Given the description of an element on the screen output the (x, y) to click on. 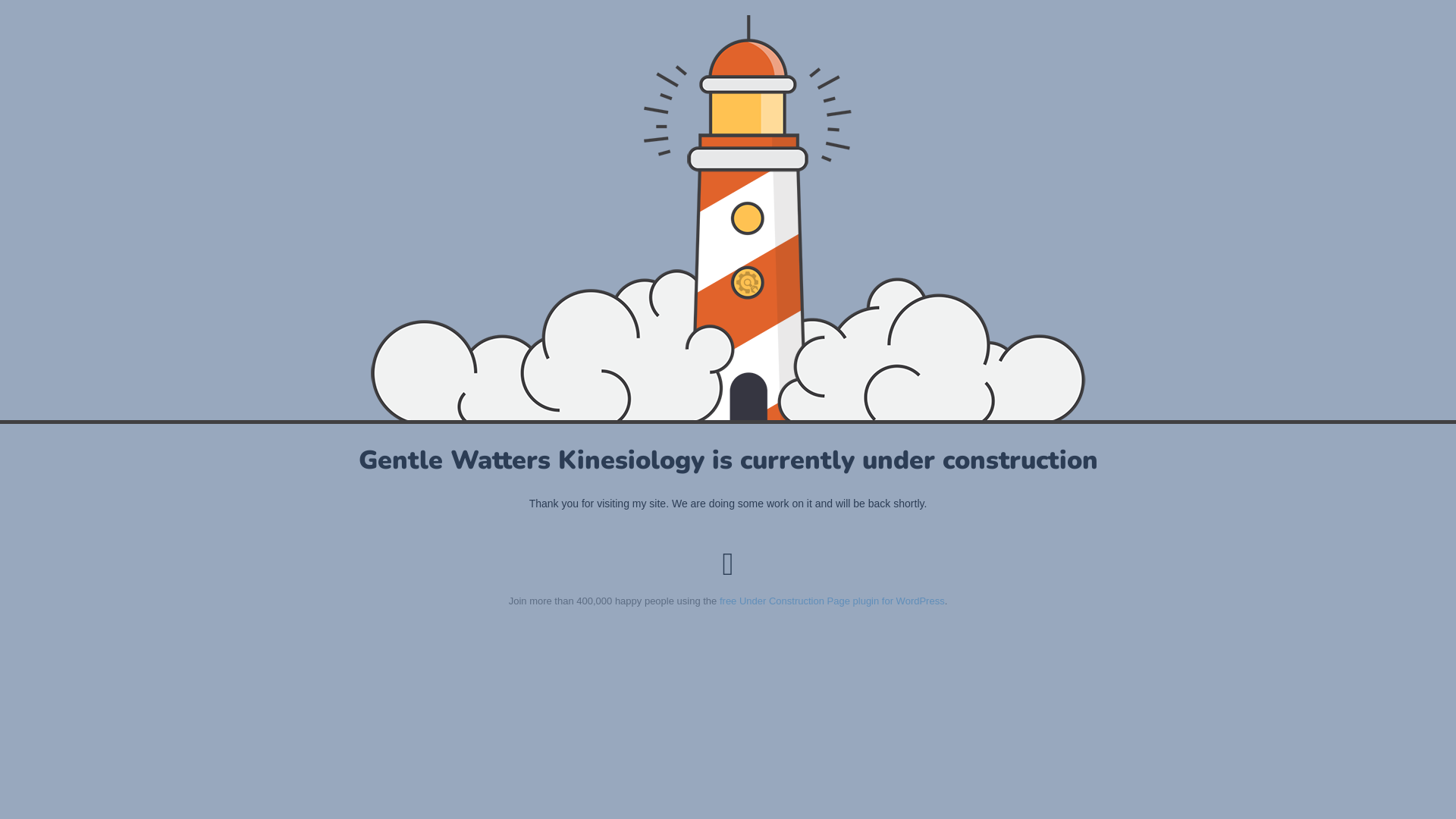
Lighthouse Element type: hover (727, 217)
free Under Construction Page plugin for WordPress Element type: text (831, 600)
